Given the description of an element on the screen output the (x, y) to click on. 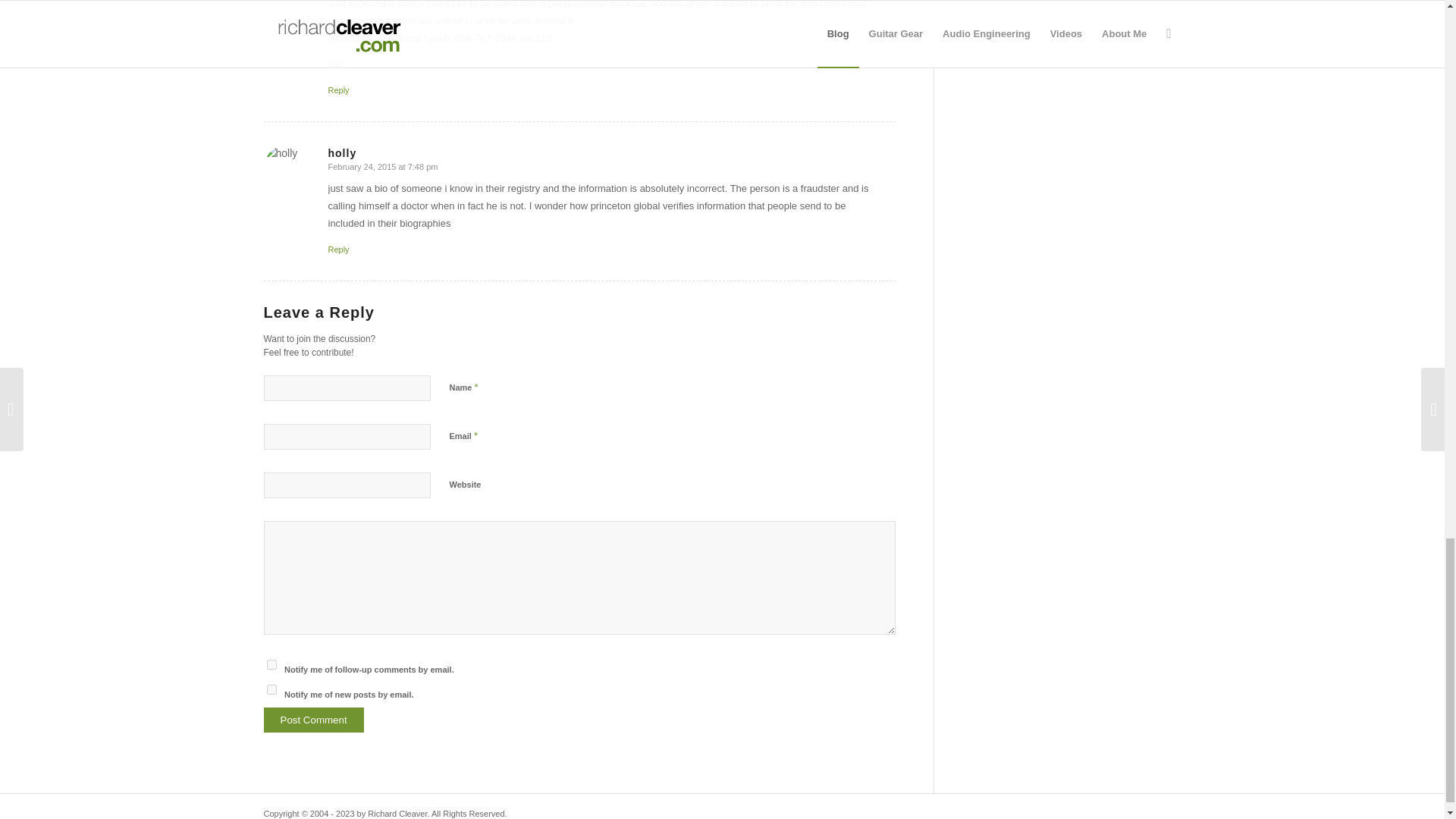
Reply (338, 248)
subscribe (271, 689)
Post Comment (313, 719)
Reply (338, 90)
February 24, 2015 at 7:48 pm (382, 166)
subscribe (271, 664)
